Given the description of an element on the screen output the (x, y) to click on. 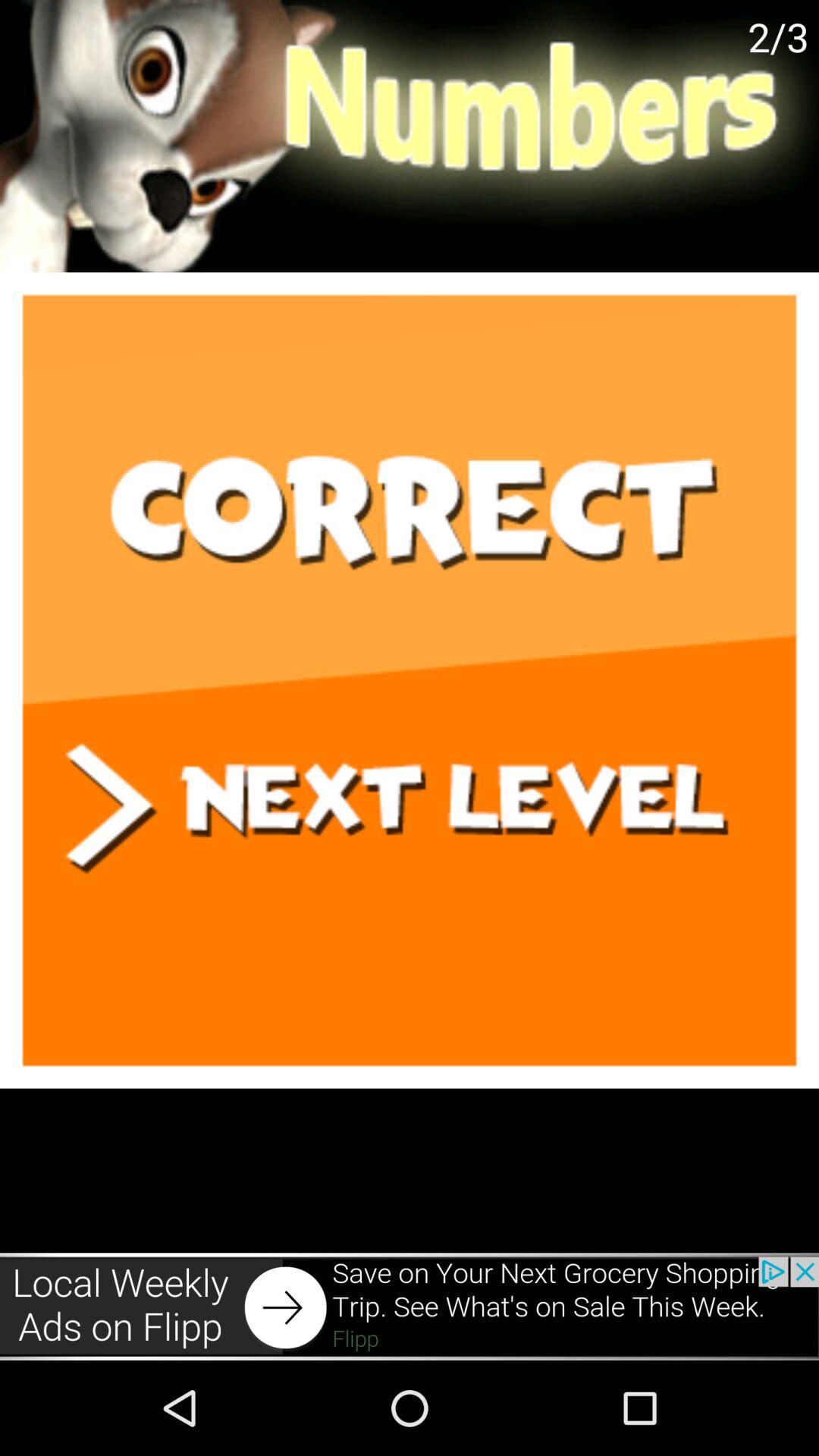
go to next level (409, 680)
